Given the description of an element on the screen output the (x, y) to click on. 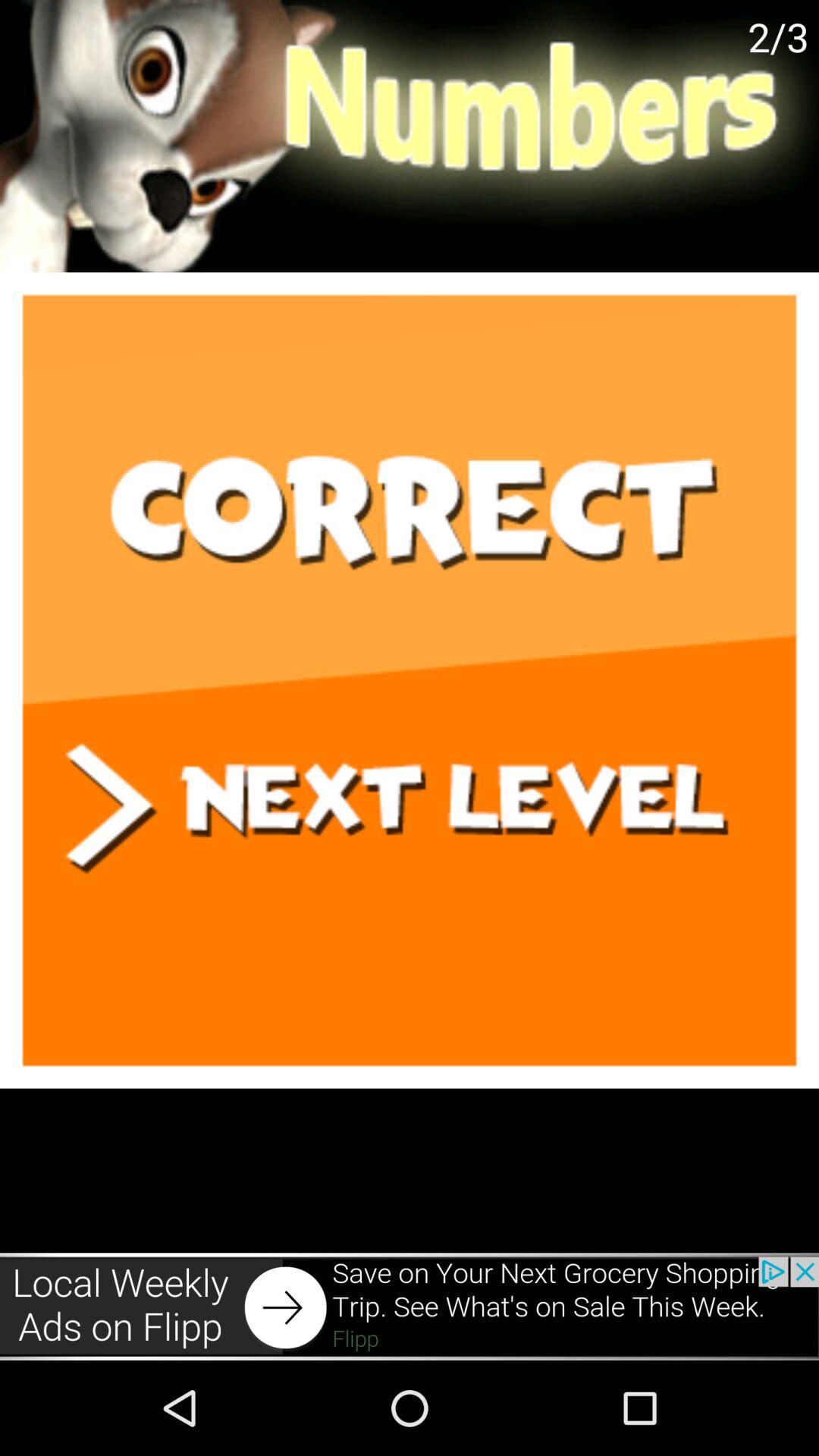
go to next level (409, 680)
